Given the description of an element on the screen output the (x, y) to click on. 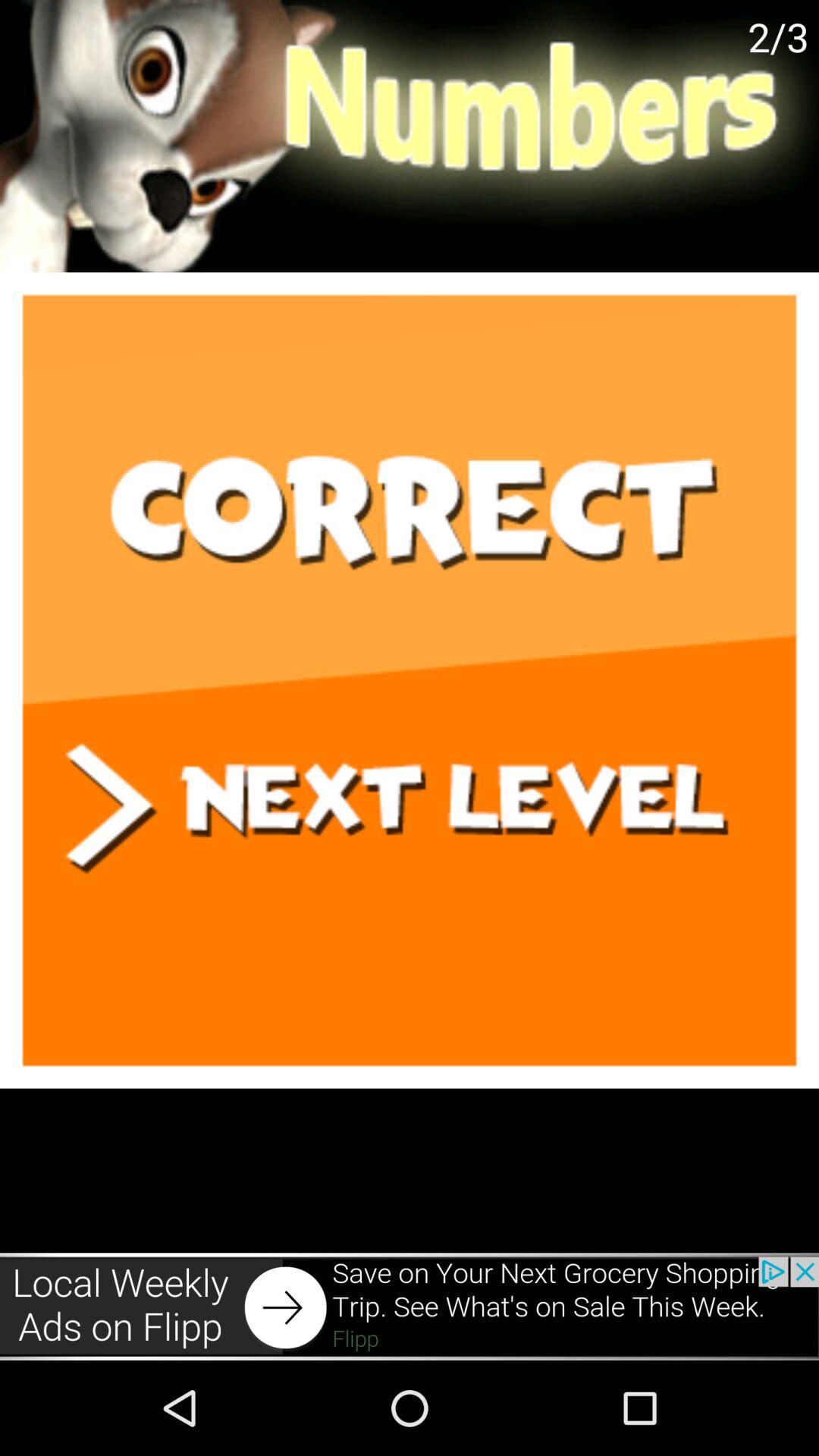
go to next level (409, 680)
